Given the description of an element on the screen output the (x, y) to click on. 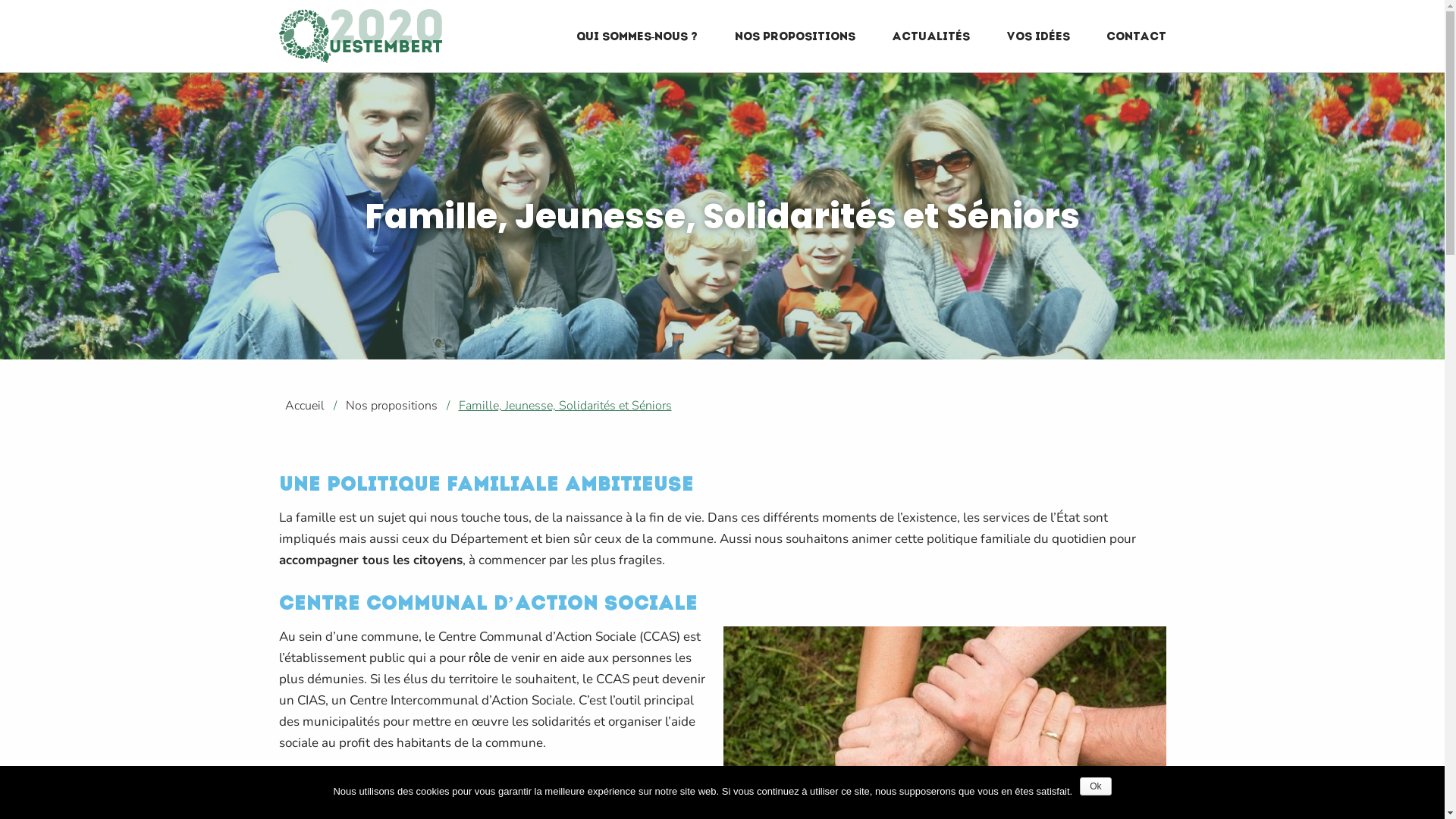
CONTACT Element type: text (1135, 35)
Nos propositions Element type: text (391, 405)
QUI SOMMES-NOUS ? Element type: text (637, 35)
Accueil Element type: text (301, 405)
NOS PROPOSITIONS Element type: text (794, 35)
Ok Element type: text (1094, 786)
